Given the description of an element on the screen output the (x, y) to click on. 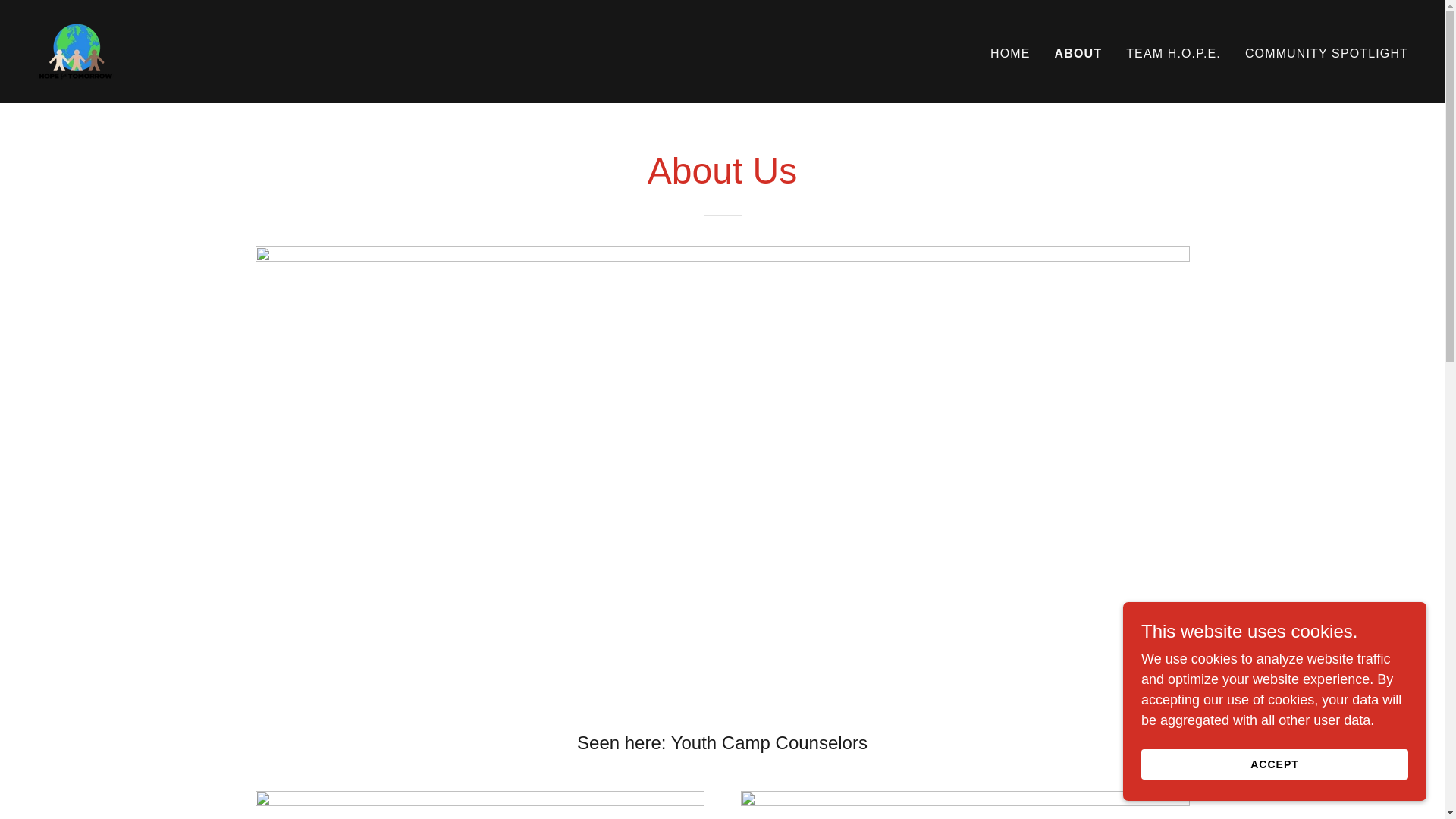
ABOUT (1078, 53)
COMMUNITY SPOTLIGHT (1326, 52)
H.O.P.E. for Tomorrow (75, 50)
TEAM H.O.P.E. (1173, 52)
HOME (1010, 52)
ACCEPT (1274, 764)
